Given the description of an element on the screen output the (x, y) to click on. 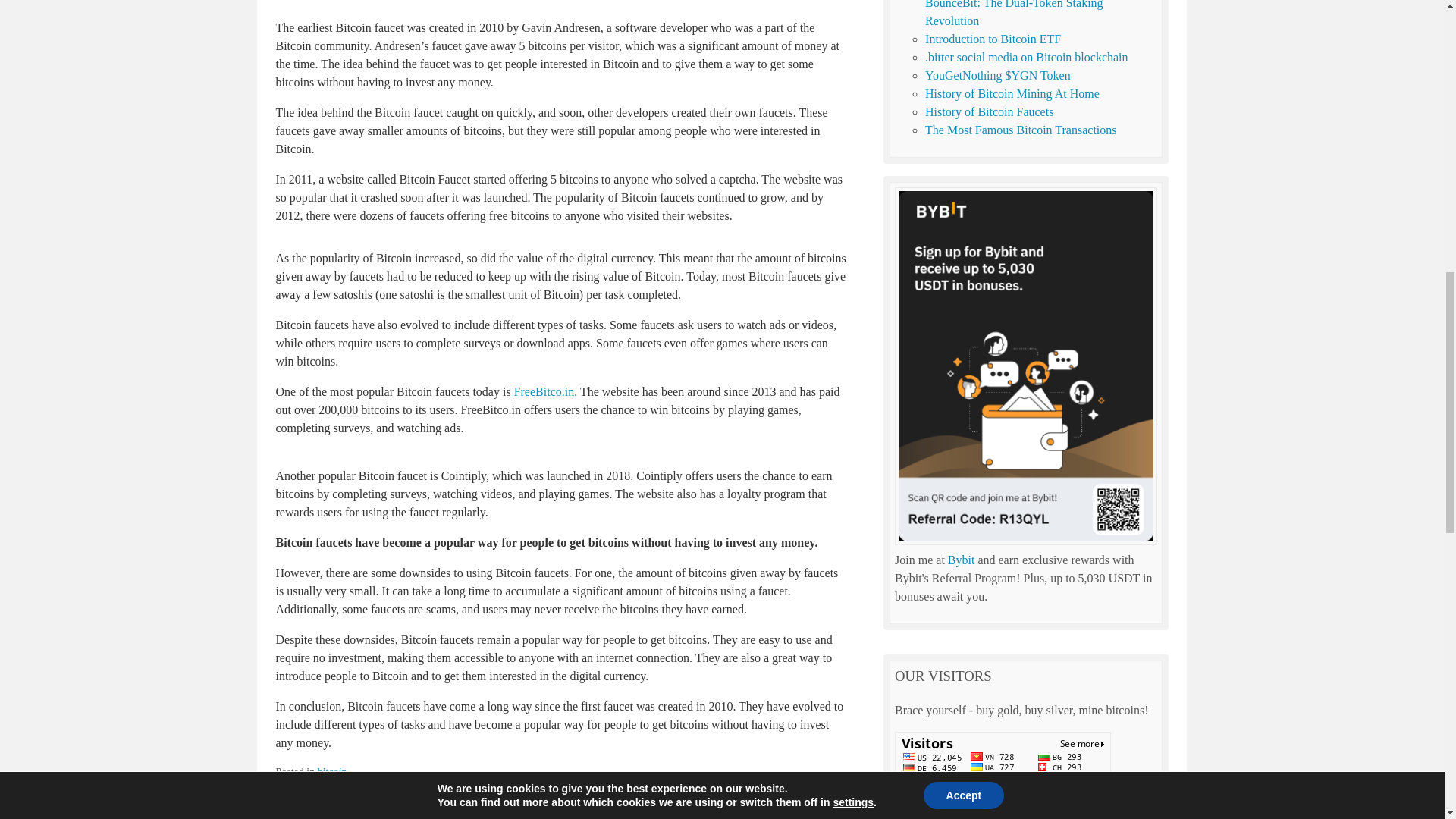
Introduction to Bitcoin ETF (992, 38)
History of Bitcoin Mining At Home (1011, 92)
History of Bitcoin Faucets (988, 111)
The Most Famous Bitcoin Transactions (1020, 129)
bitcoin (332, 772)
Bybit (961, 559)
.bitter social media on Bitcoin blockchain (1025, 56)
FreeBitco.in (544, 391)
